Given the description of an element on the screen output the (x, y) to click on. 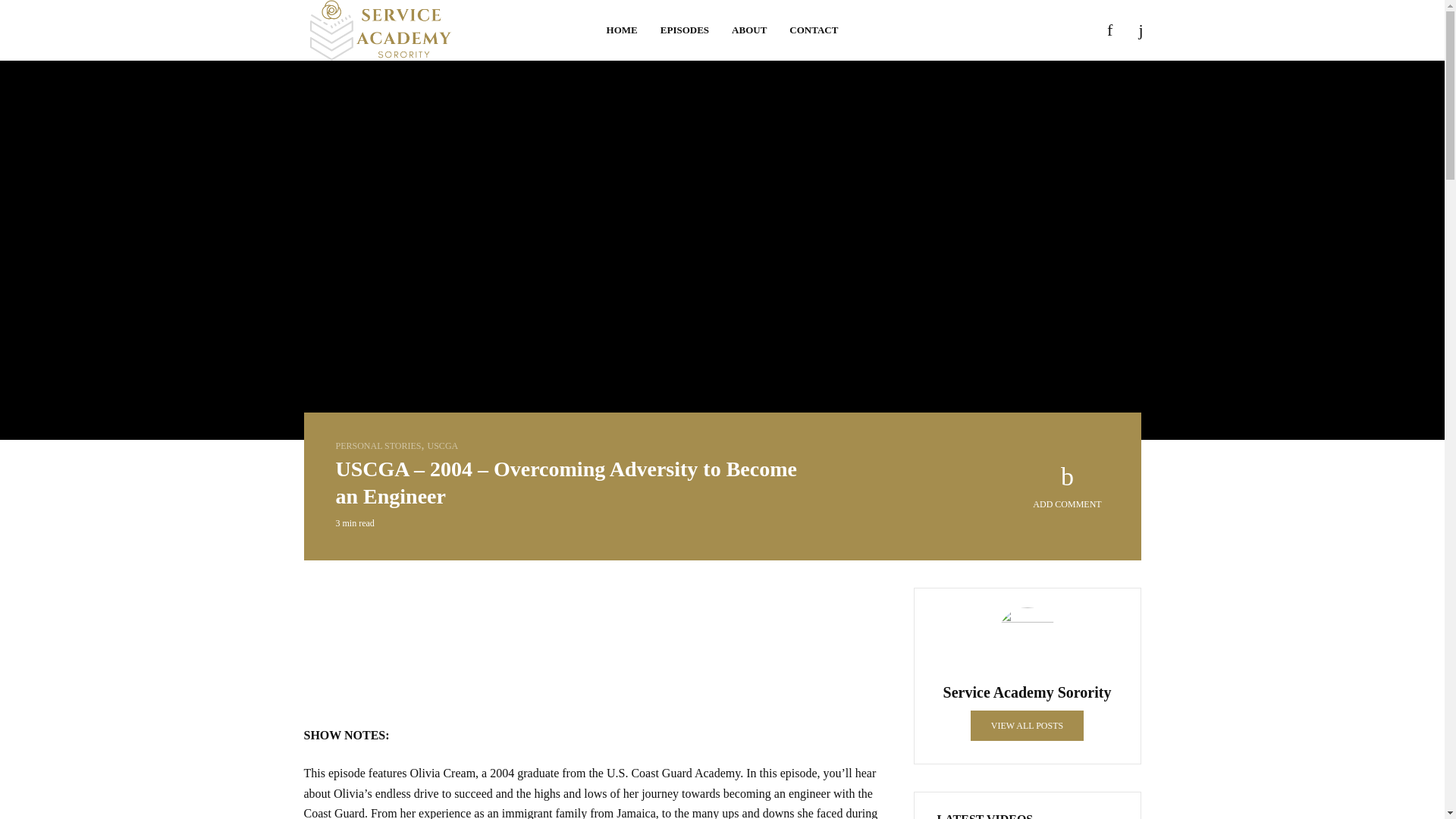
HOME (622, 30)
ABOUT (748, 30)
EPISODES (684, 30)
CONTACT (812, 30)
USCGA - 2004 - Overcoming Adversity to Become an Engineer (593, 644)
